Given the description of an element on the screen output the (x, y) to click on. 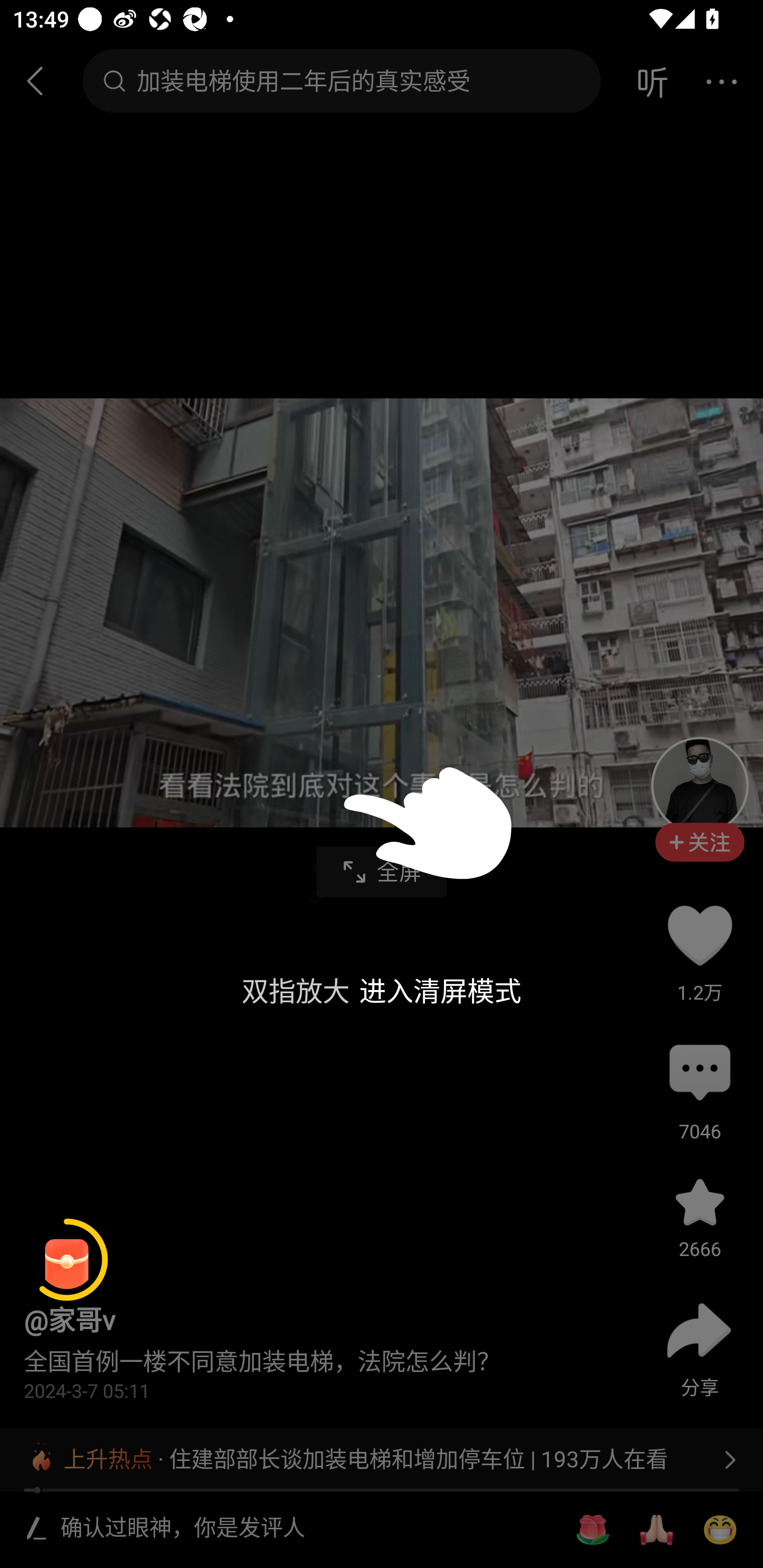
加装电梯使用二年后的真实感受 搜索框，加装电梯使用二年后的真实感受 (341, 80)
返回 (43, 80)
音频 (651, 80)
更多操作 (720, 80)
头像 (699, 785)
全屏播放 (381, 871)
点赞12026 1.2万 (699, 935)
评论7046 评论 7046 (699, 1074)
收藏 2666 (699, 1201)
阅读赚金币 (66, 1259)
分享 (699, 1330)
@家哥v (69, 1319)
上升热点  · 住建部部长谈加装电梯和增加停车位  | 193万人在看 (381, 1459)
确认过眼神，你是发评人 (305, 1529)
[玫瑰] (592, 1530)
[祈祷] (656, 1530)
[呲牙] (719, 1530)
